Given the description of an element on the screen output the (x, y) to click on. 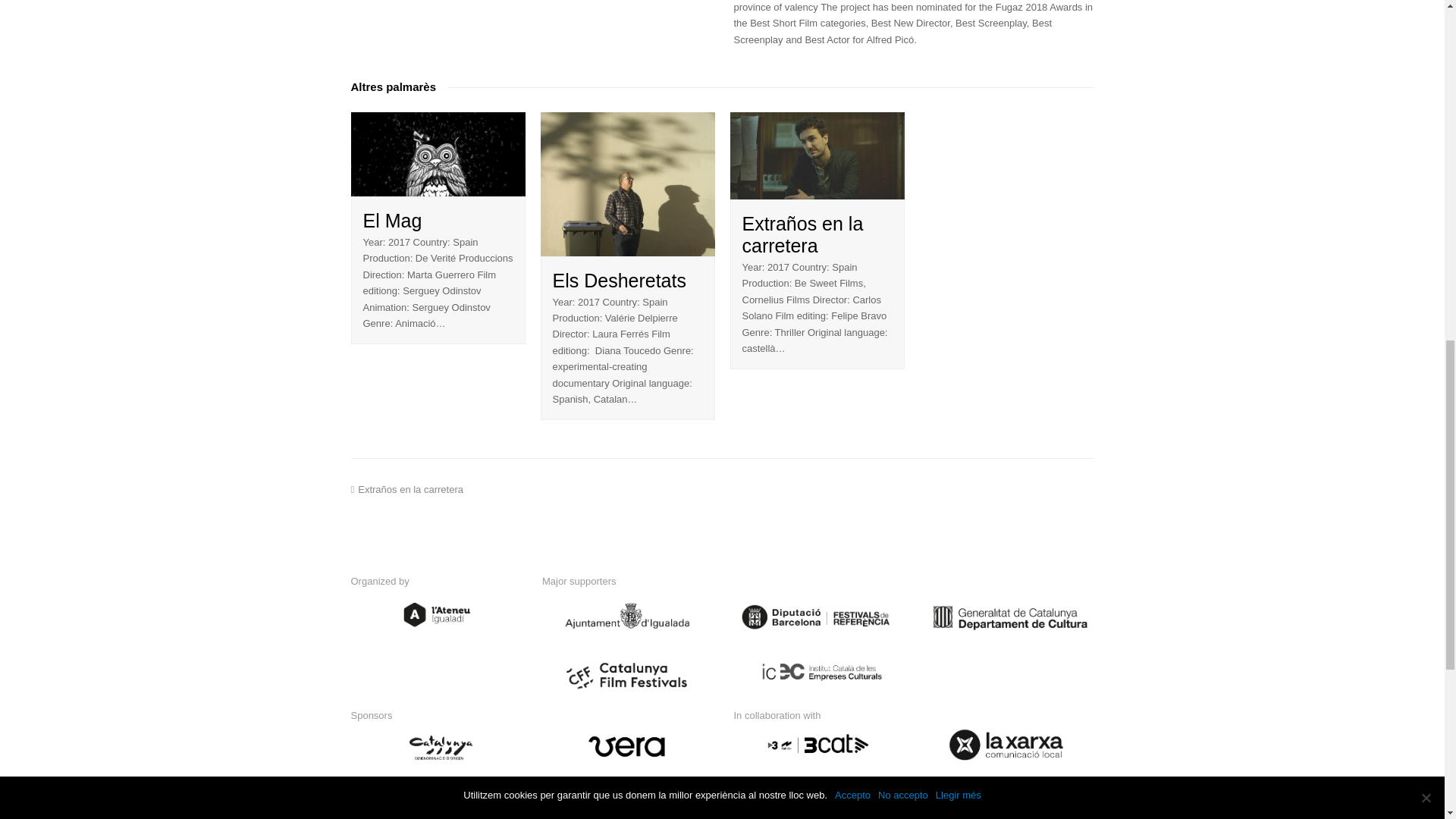
Els Desheretats (627, 184)
El Mag (437, 154)
